Given the description of an element on the screen output the (x, y) to click on. 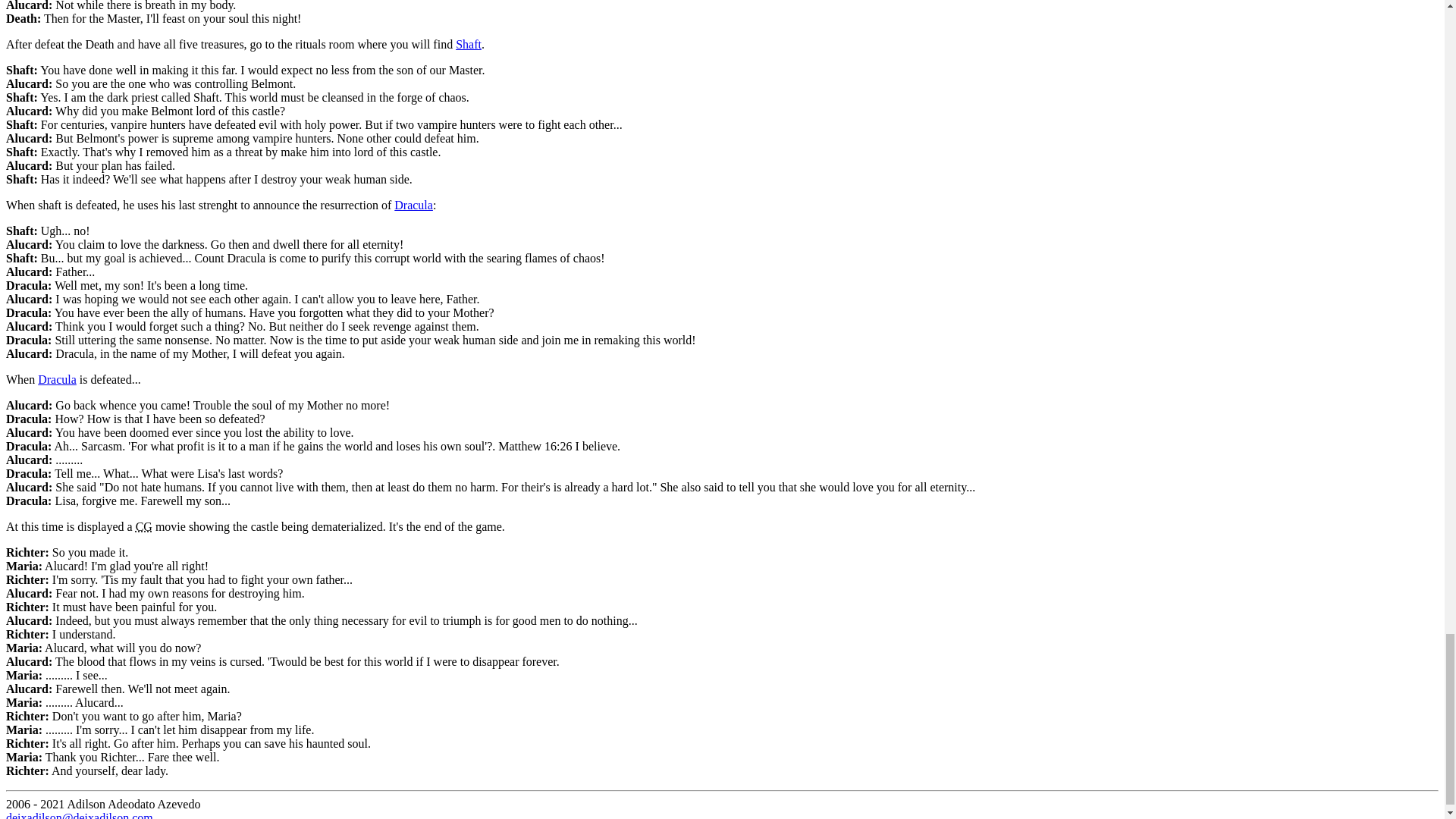
Computer Graphics (143, 526)
